Given the description of an element on the screen output the (x, y) to click on. 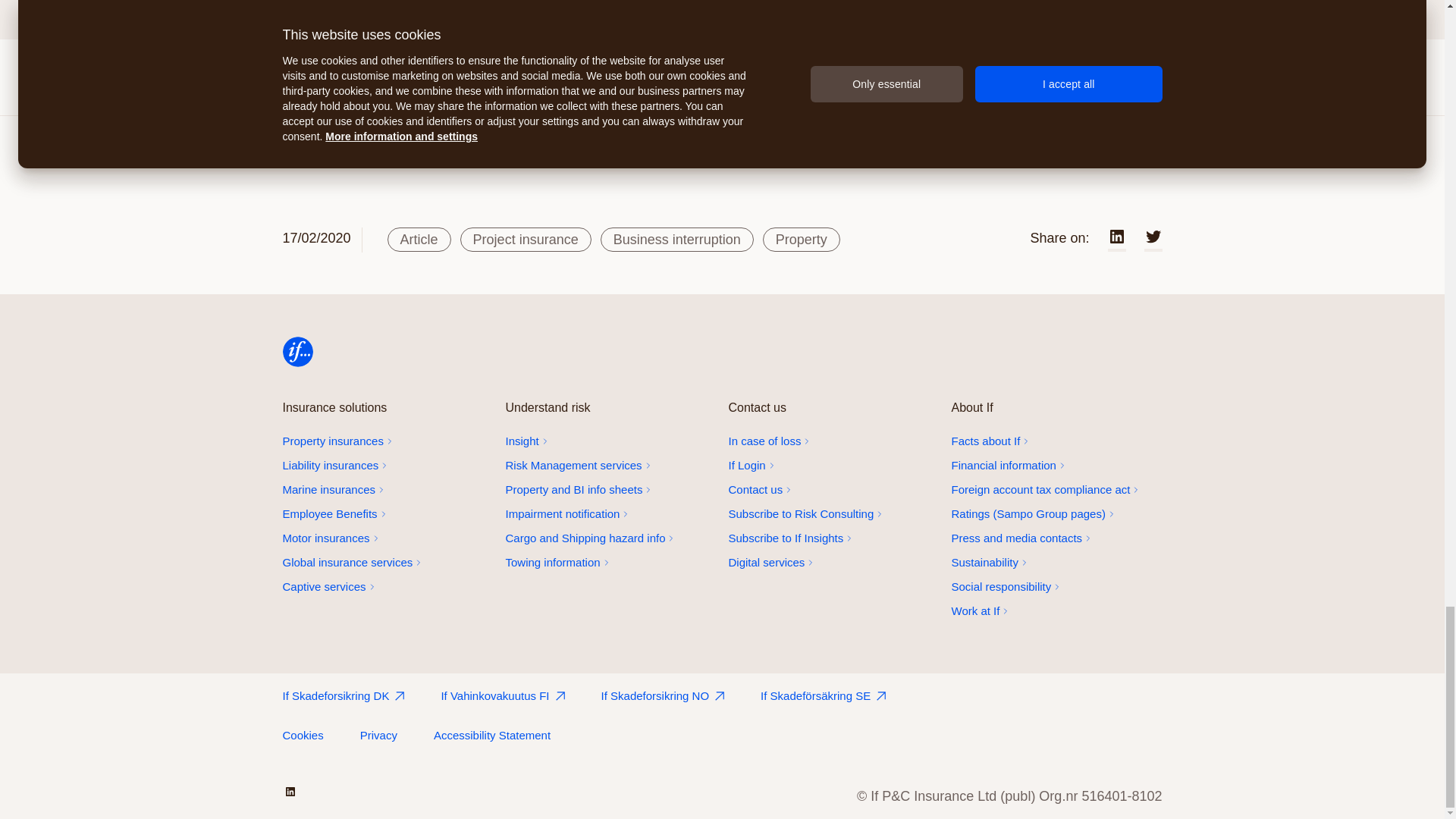
report claim (833, 441)
Subsribe to Risk Consulting (833, 513)
online service (833, 465)
Subsribe to If Insights (833, 537)
